Given the description of an element on the screen output the (x, y) to click on. 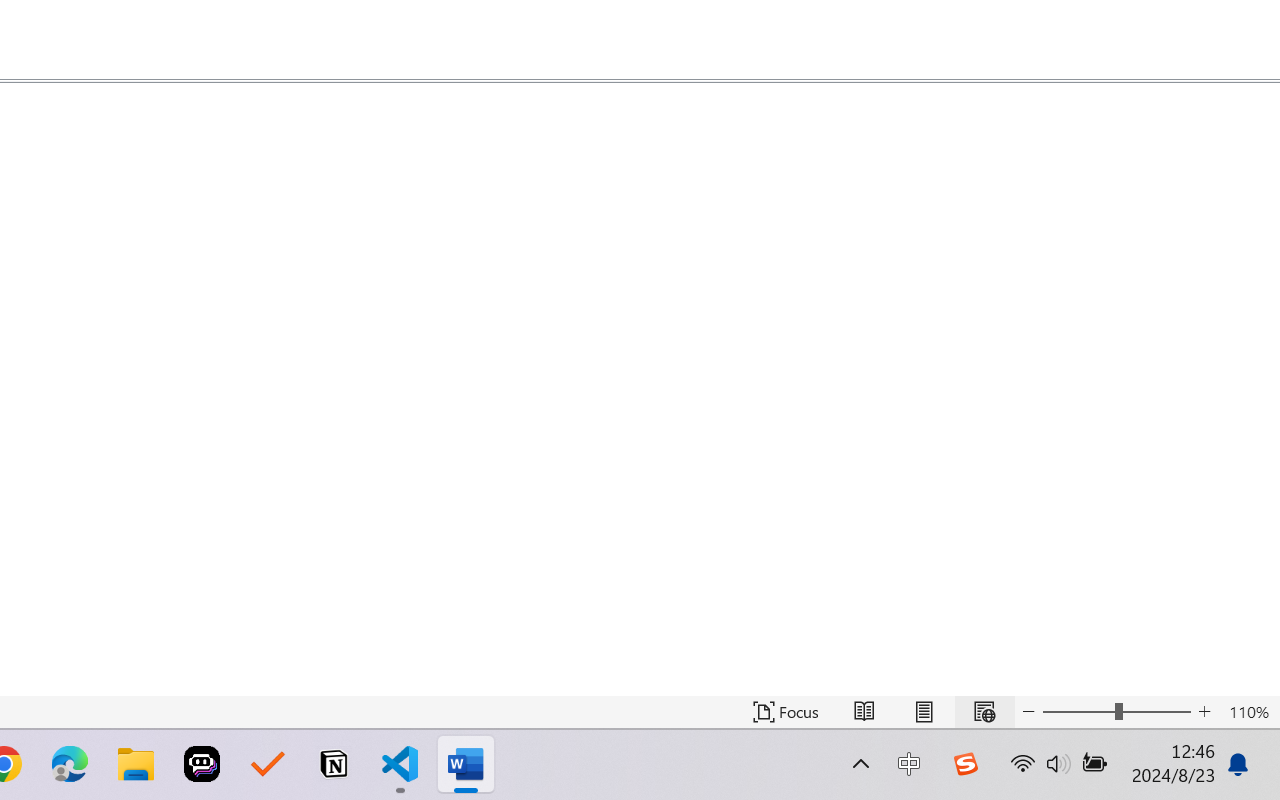
Zoom 110% (1249, 712)
